Given the description of an element on the screen output the (x, y) to click on. 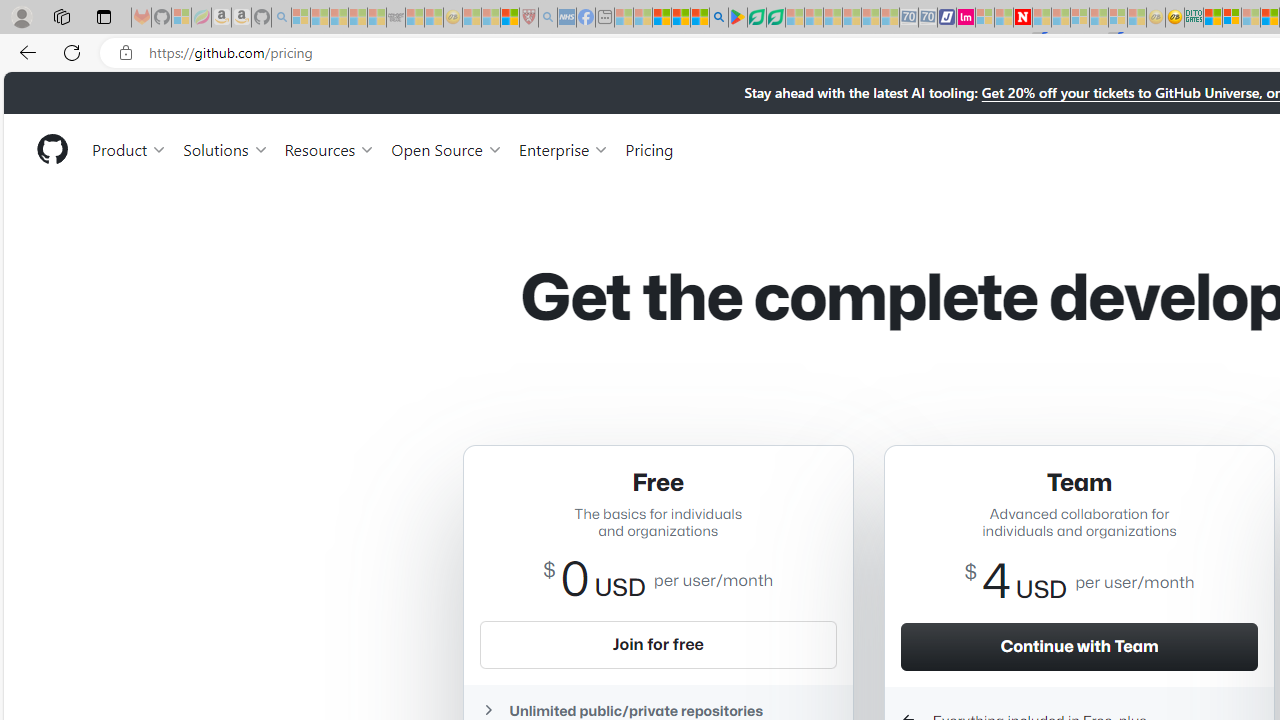
Open Source (446, 148)
Resources (330, 148)
Product (130, 148)
Bluey: Let's Play! - Apps on Google Play (737, 17)
Open Source (446, 148)
Join for free (657, 643)
Latest Politics News & Archive | Newsweek.com (1022, 17)
